Given the description of an element on the screen output the (x, y) to click on. 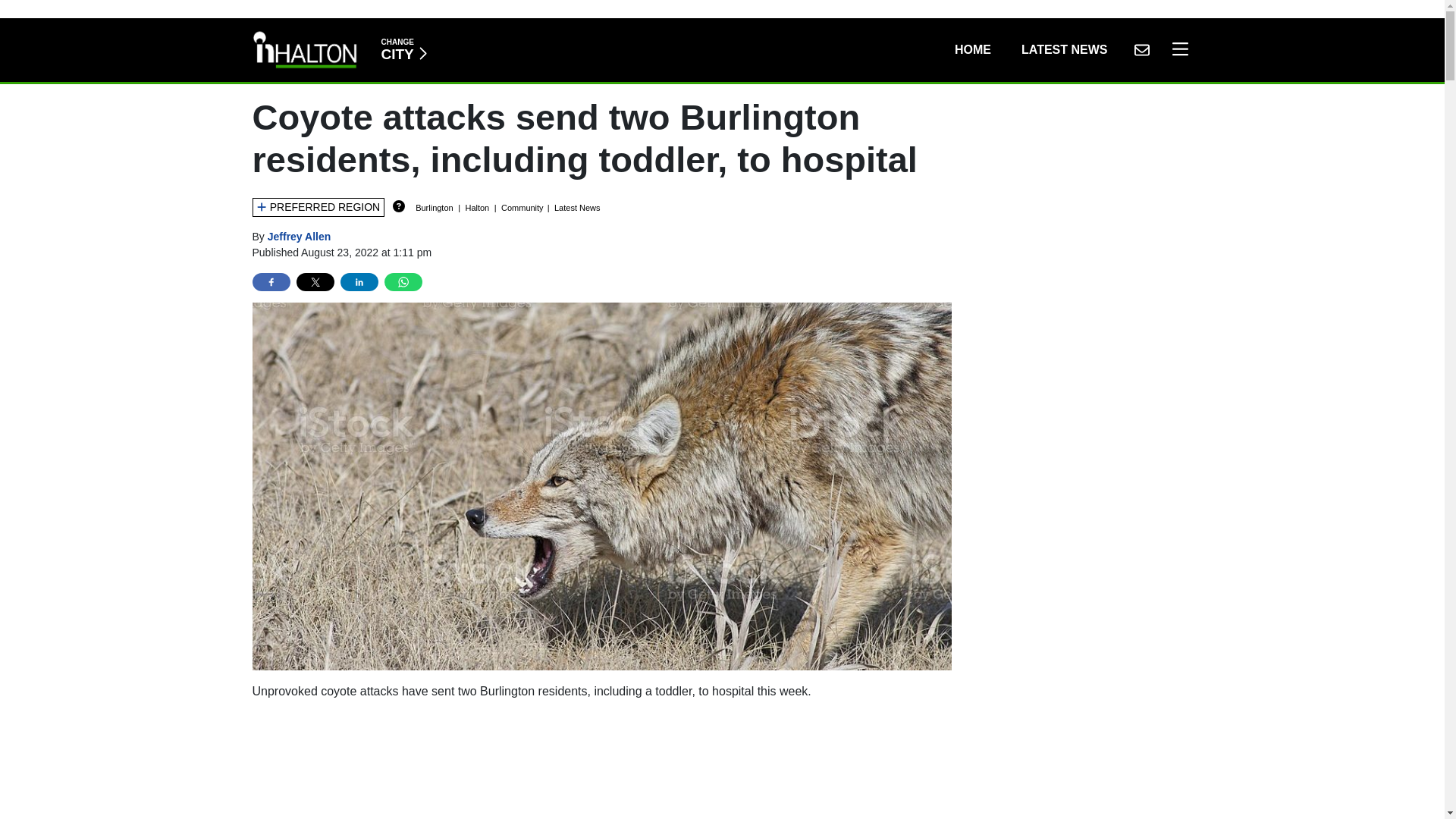
Posts by 944 (299, 236)
OPEN MENU (1176, 50)
3rd party ad content (601, 765)
LATEST NEWS (1064, 49)
HOME (402, 50)
3rd party ad content (972, 49)
